Given the description of an element on the screen output the (x, y) to click on. 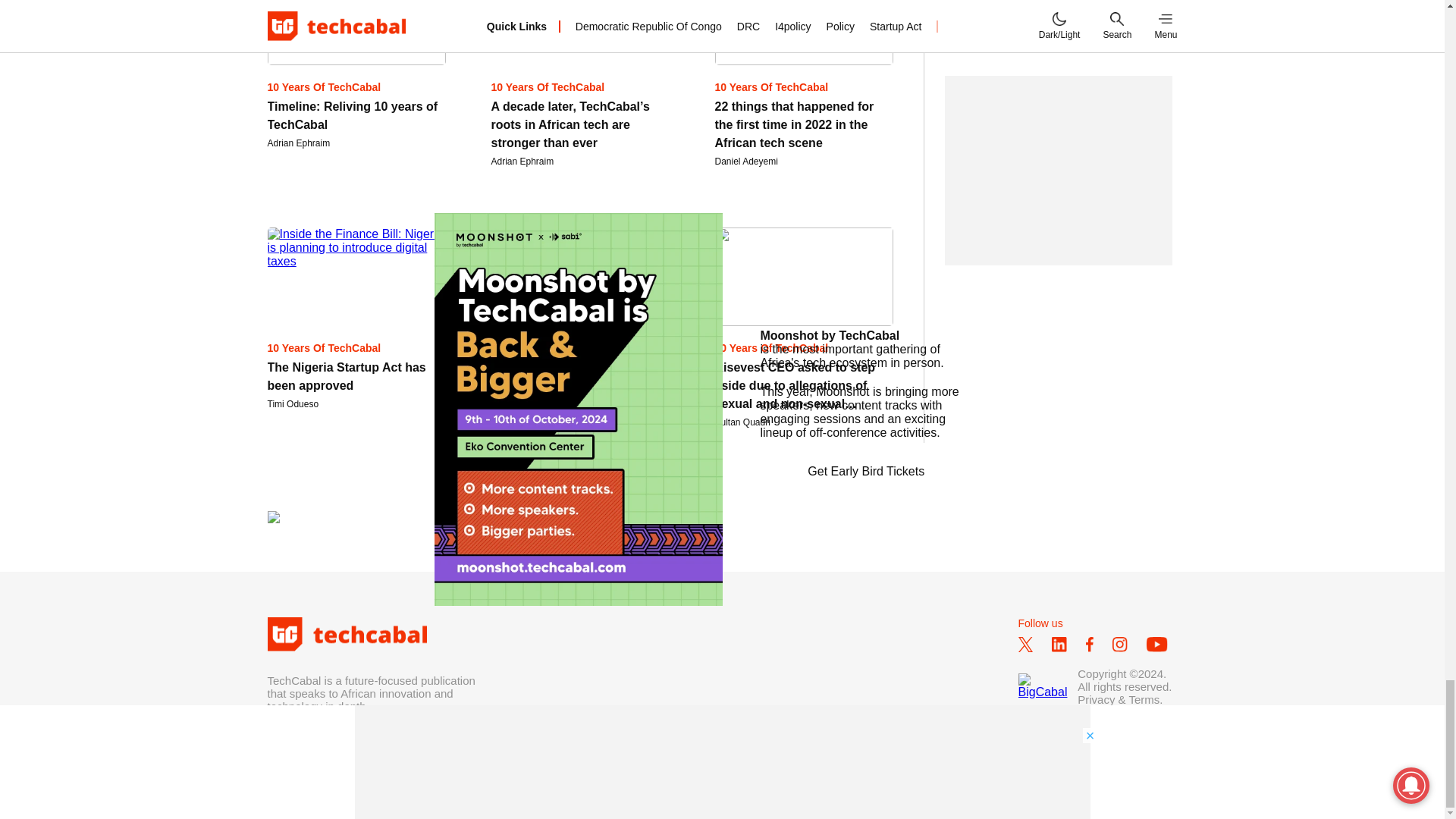
Posts by Sultan Quadri (519, 421)
Posts by Sultan Quadri (742, 421)
Posts by Timi Odueso (292, 403)
Posts by Daniel Adeyemi (745, 161)
Posts by Adrian Ephraim (298, 143)
Posts by Adrian Ephraim (523, 161)
